Given the description of an element on the screen output the (x, y) to click on. 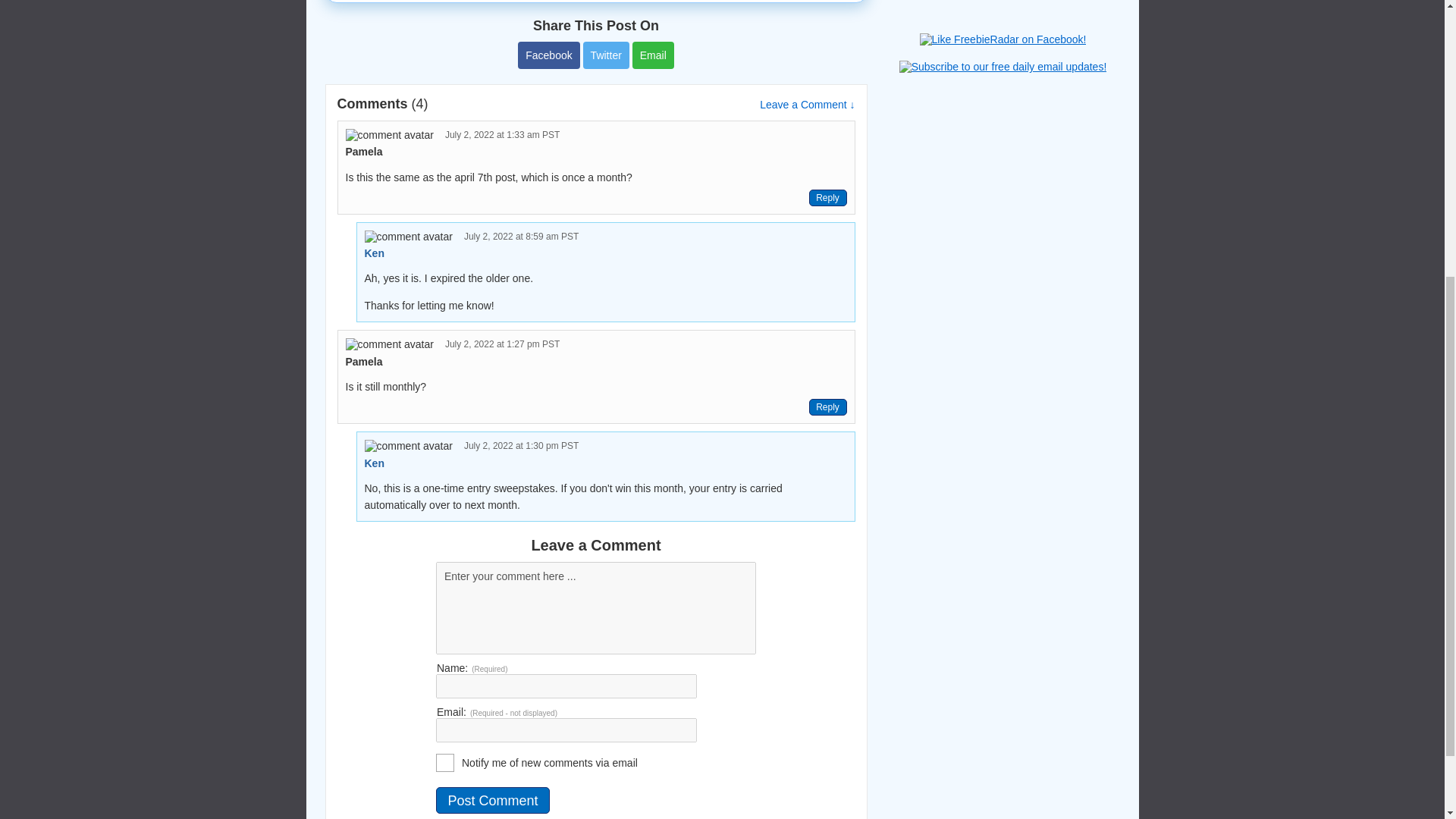
July 2, 2022 at 1:27 pm PST (502, 344)
Email (652, 54)
July 2, 2022 at 1:30 pm PST (521, 445)
Subscribe to our free daily email updates! (1002, 66)
Post Comment (492, 800)
Twitter (605, 54)
Like FreebieRadar on Facebook! (1003, 39)
Reply (826, 406)
on (444, 762)
July 2, 2022 at 1:33 am PST (502, 134)
